Given the description of an element on the screen output the (x, y) to click on. 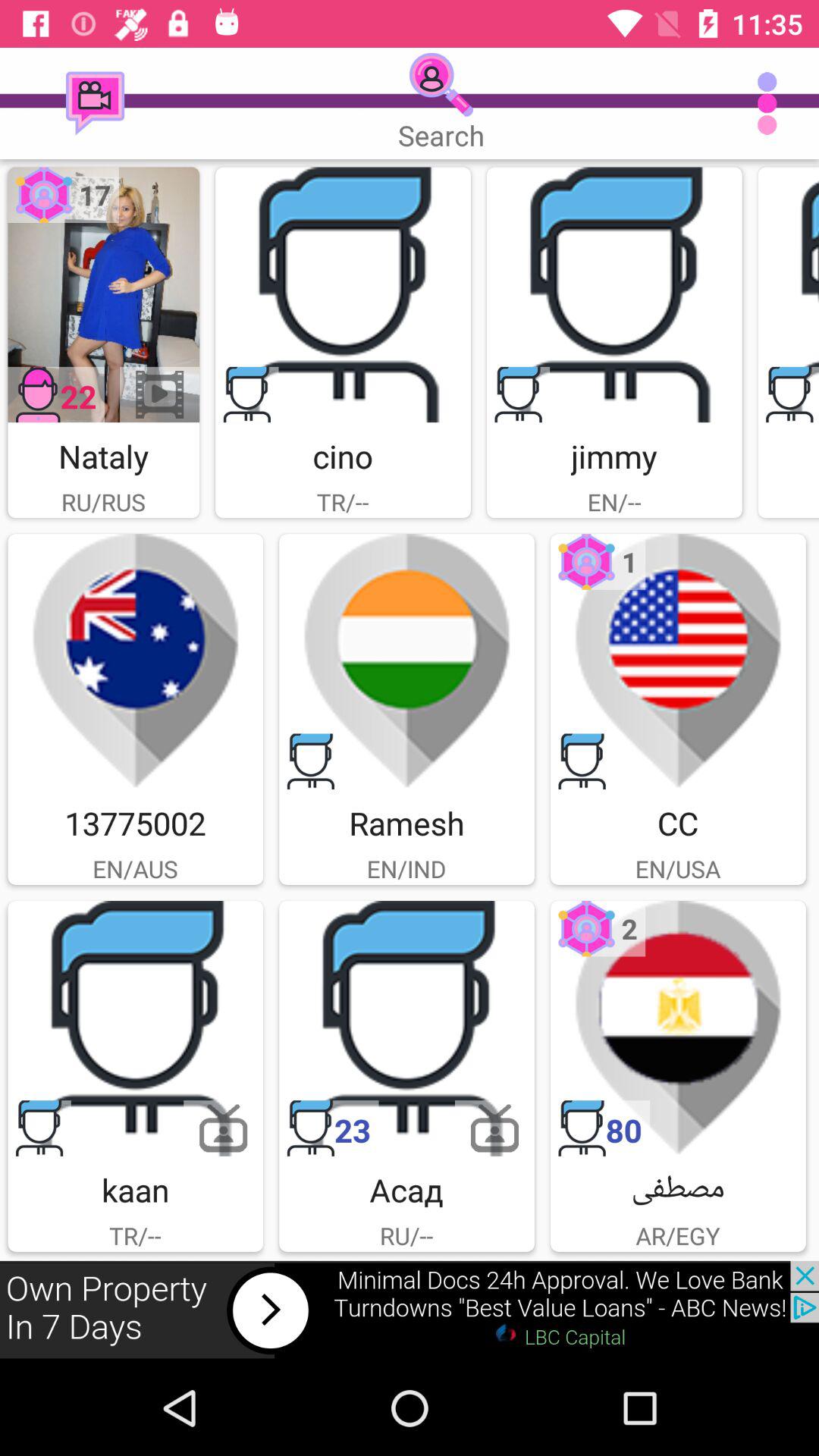
select jimmy option (614, 294)
